Given the description of an element on the screen output the (x, y) to click on. 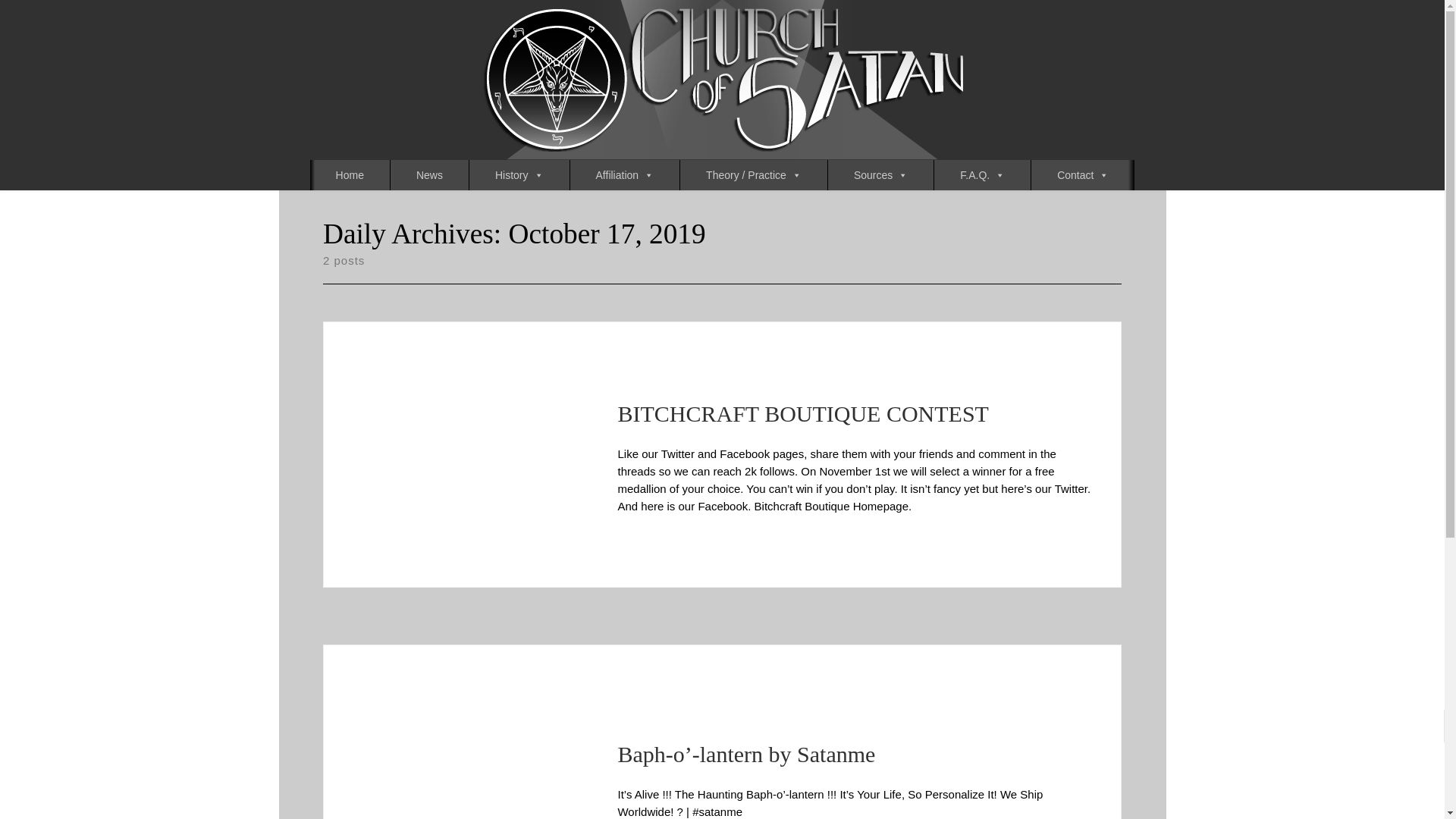
News (429, 174)
History (518, 174)
Skip to content (60, 20)
Sources (880, 174)
Home (350, 174)
Affiliation (624, 174)
